Given the description of an element on the screen output the (x, y) to click on. 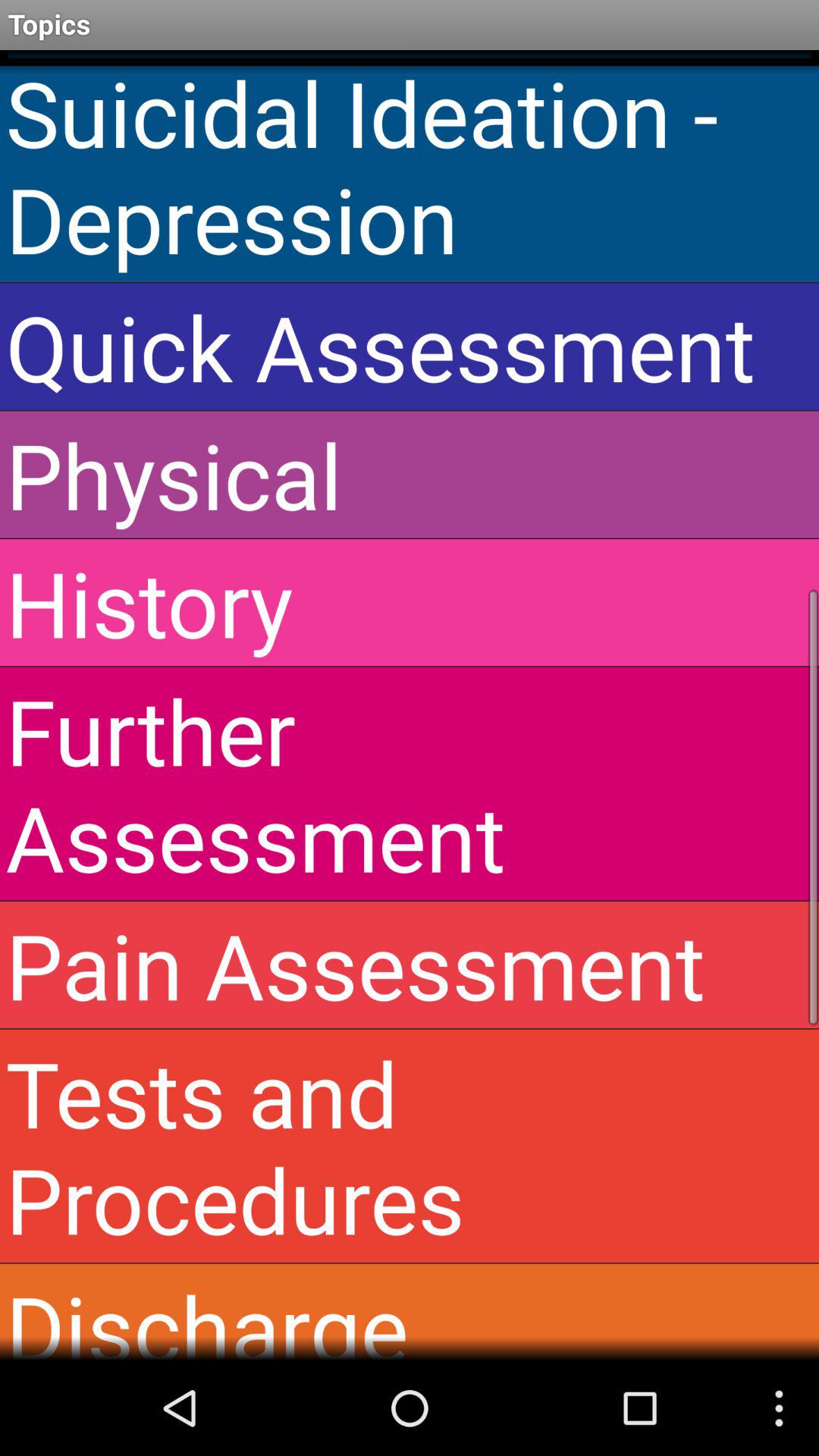
turn off history icon (409, 602)
